Given the description of an element on the screen output the (x, y) to click on. 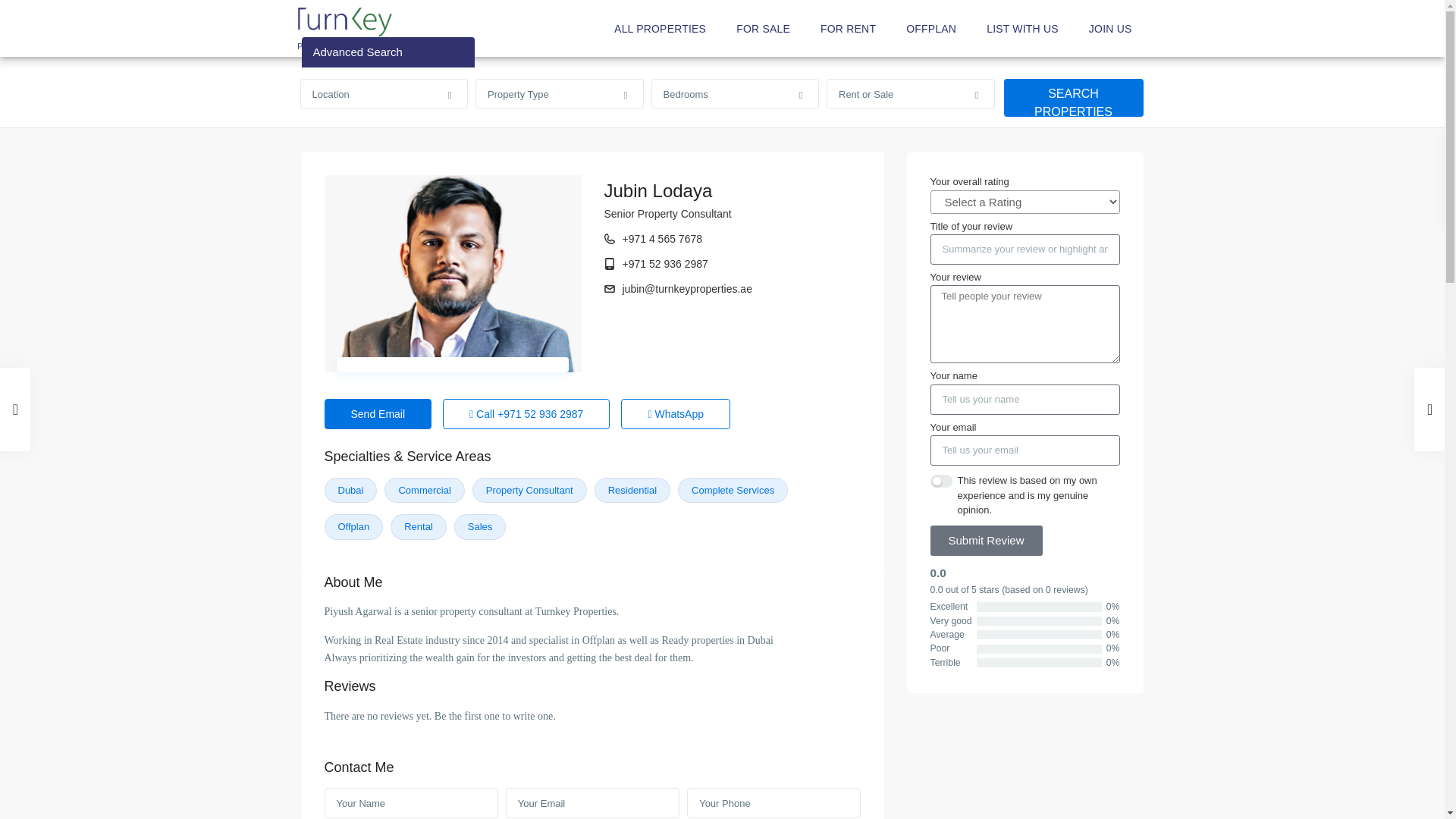
JOIN US (1110, 28)
Dubai (350, 489)
ALL PROPERTIES (659, 28)
1 (941, 481)
Property Consultant (528, 489)
FOR RENT (848, 28)
Send Email (378, 413)
Jubin Lodaya (657, 190)
WhatsApp (675, 413)
LIST WITH US (1022, 28)
OFFPLAN (931, 28)
FOR SALE (762, 28)
SEARCH PROPERTIES (1073, 97)
Commercial (424, 489)
SEARCH PROPERTIES (1073, 97)
